Given the description of an element on the screen output the (x, y) to click on. 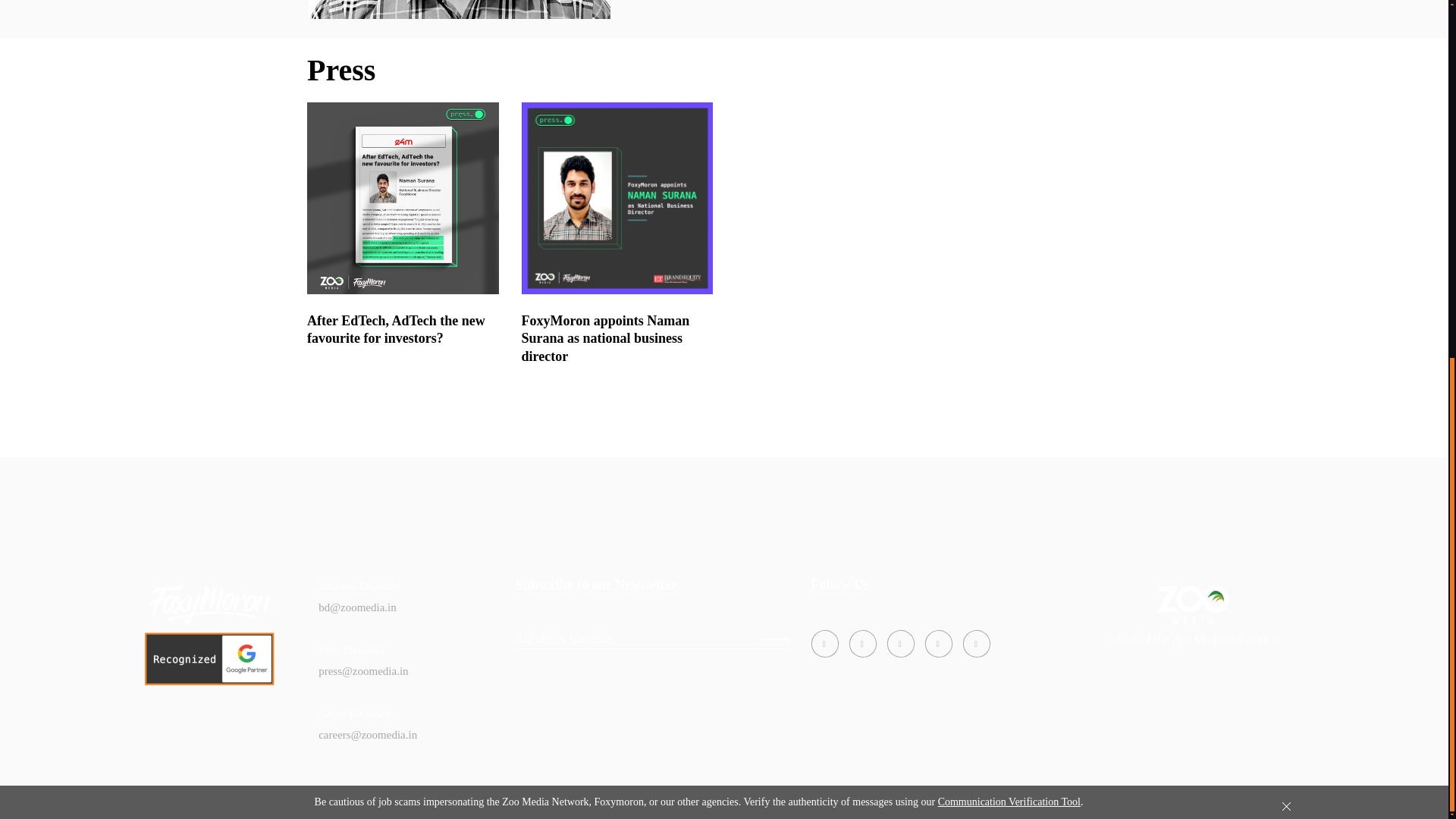
Communication Verification Tool (1008, 170)
After EdTech, AdTech the new favourite for investors? (395, 329)
Naman-Surana (458, 9)
